Given the description of an element on the screen output the (x, y) to click on. 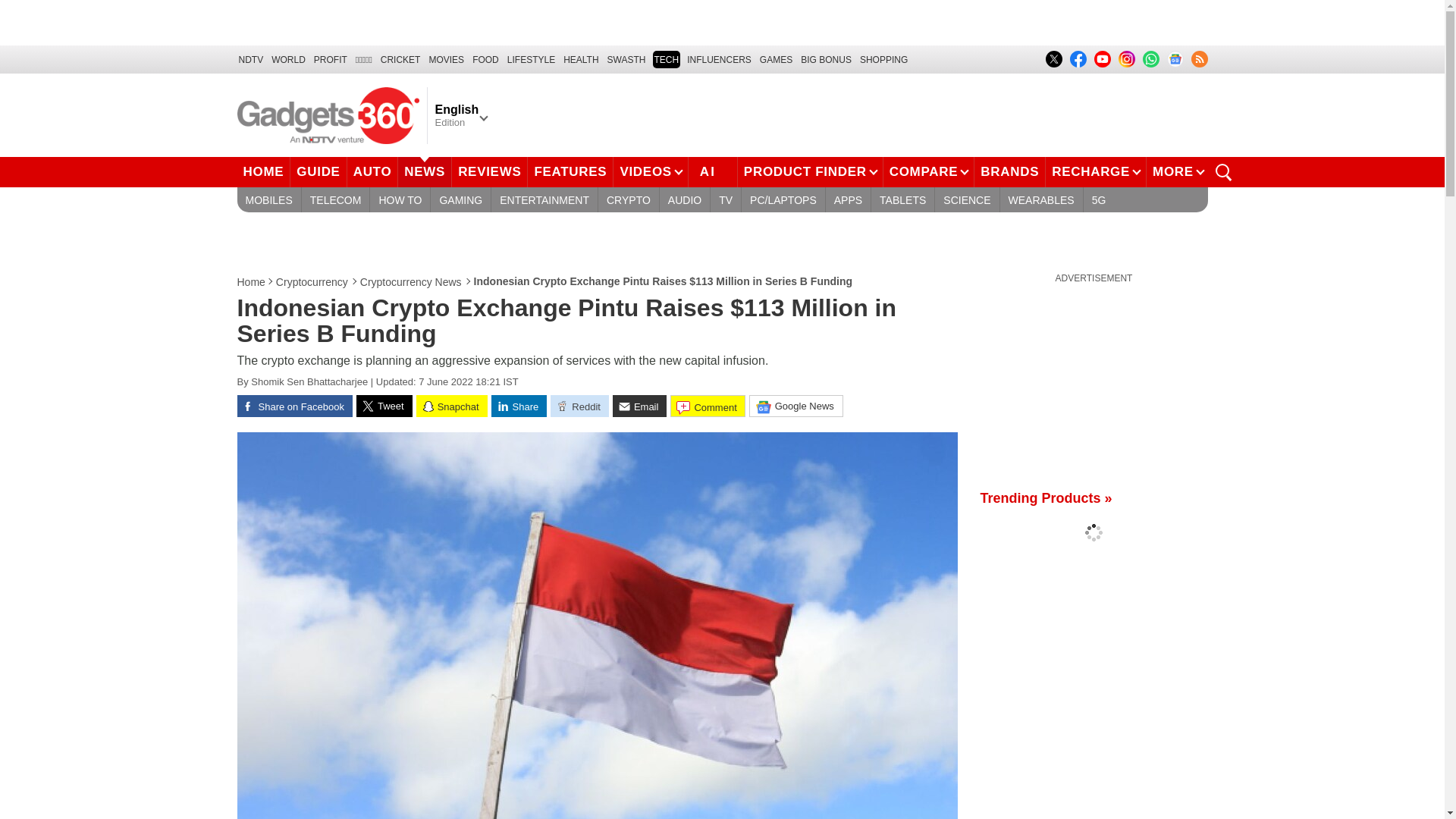
WORLD (288, 58)
SWASTH (626, 58)
LIFESTYLE (530, 58)
SWASTH (626, 58)
PROFIT (331, 58)
MOVIES (445, 58)
Home (250, 281)
Gadgets 360 (327, 114)
World (288, 58)
Influencers (718, 58)
